Given the description of an element on the screen output the (x, y) to click on. 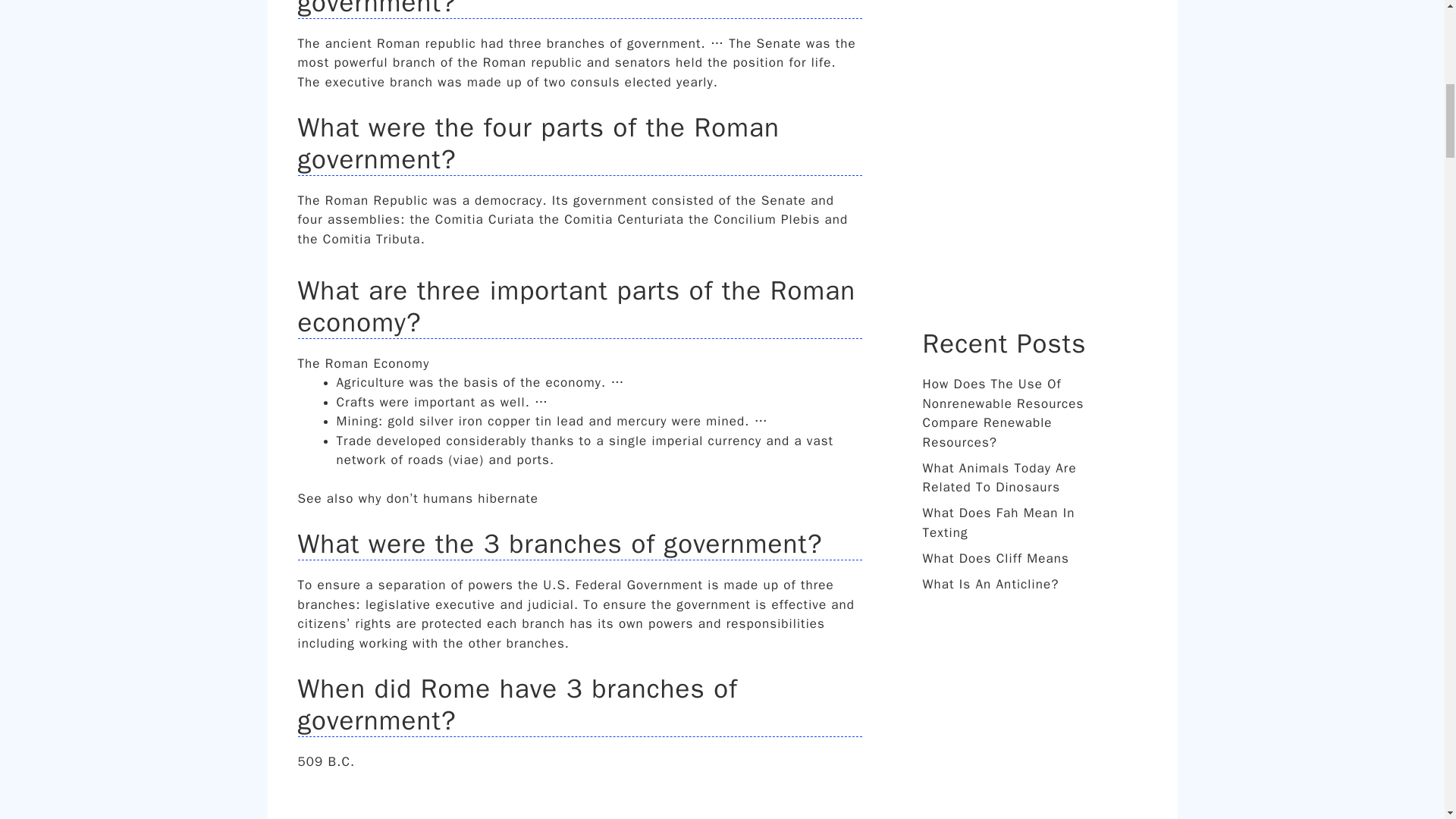
What Does Cliff Means (994, 558)
What Animals Today Are Related To Dinosaurs (998, 477)
What Is An Anticline? (989, 584)
What Does Fah Mean In Texting (997, 522)
Advertisement (1035, 150)
